Given the description of an element on the screen output the (x, y) to click on. 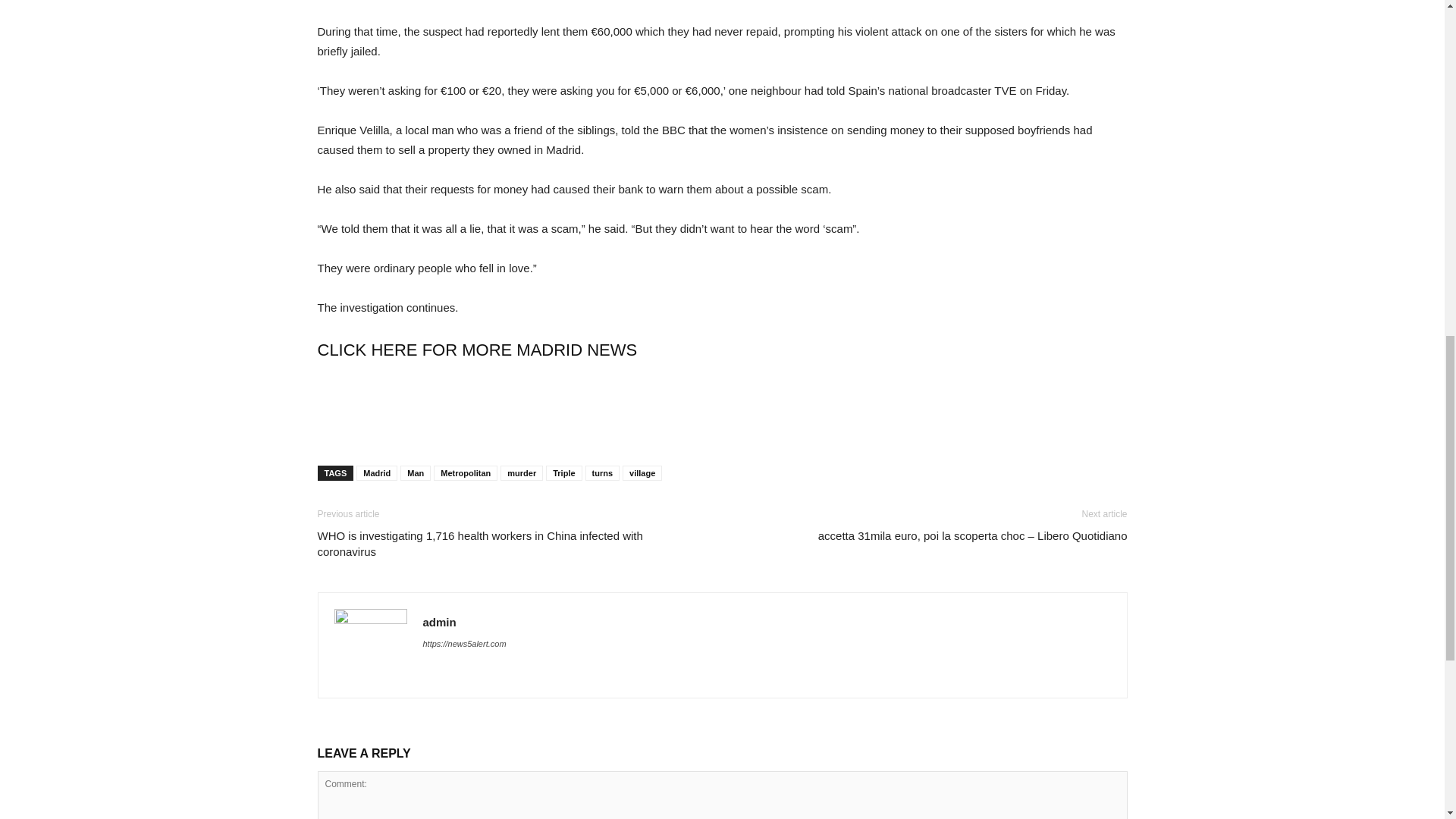
Metropolitan (465, 473)
turns (602, 473)
CLICK HERE FOR MORE MADRID NEWS (477, 349)
Triple (563, 473)
village (642, 473)
Man (415, 473)
admin (440, 621)
Madrid (376, 473)
murder (521, 473)
